Given the description of an element on the screen output the (x, y) to click on. 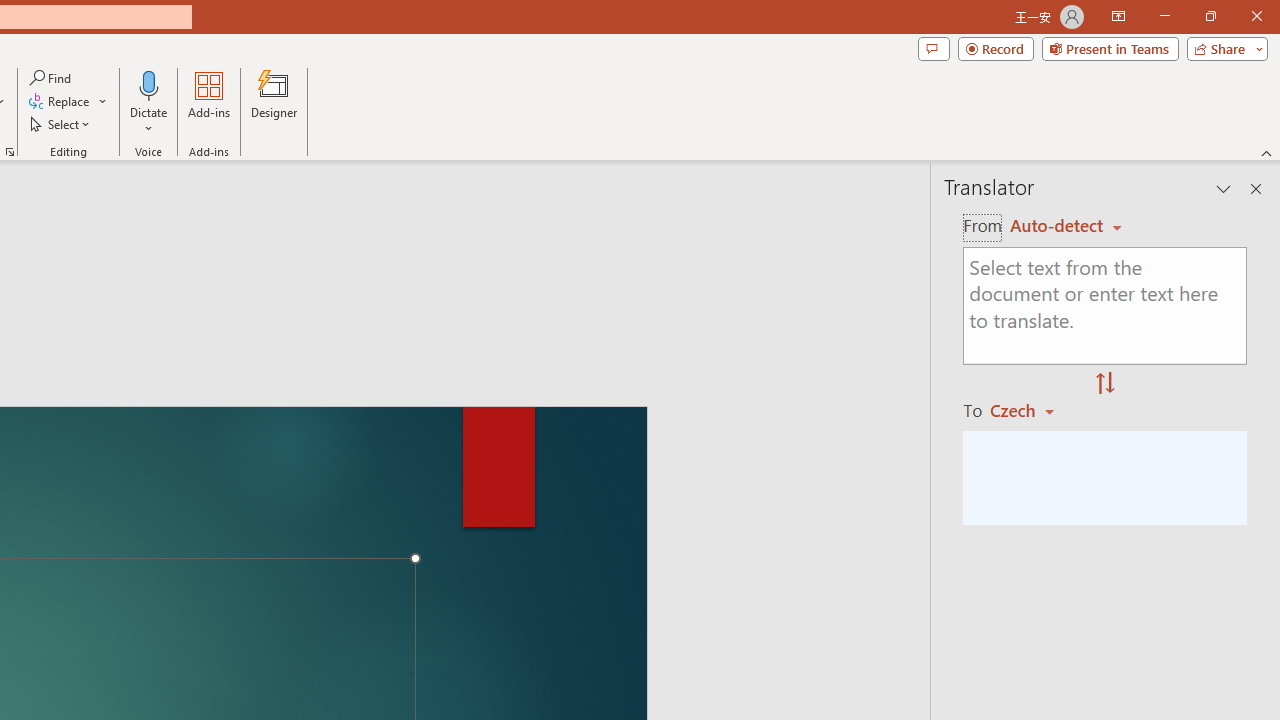
Czech (1030, 409)
